Given the description of an element on the screen output the (x, y) to click on. 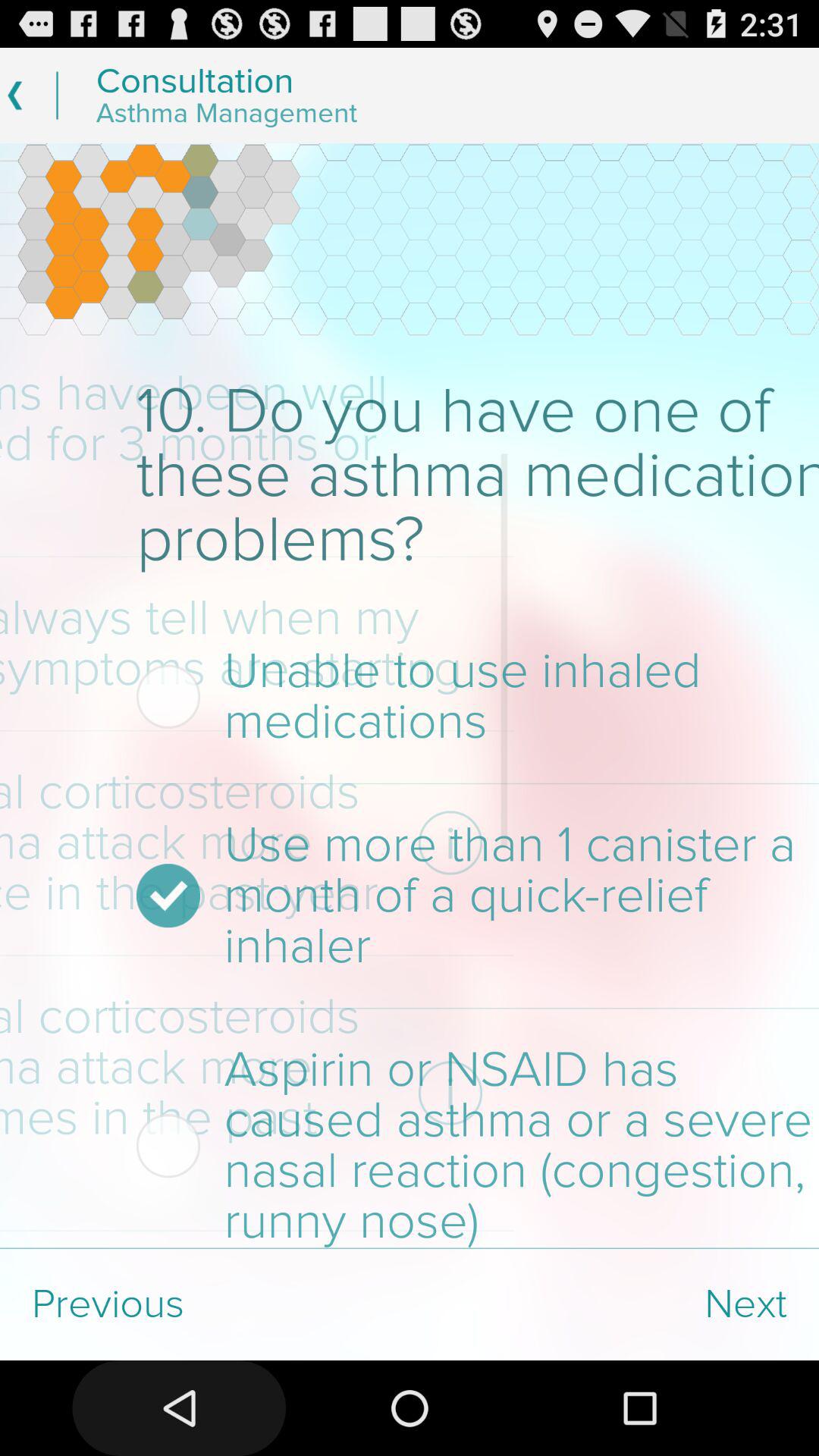
press the item next to the next app (204, 1304)
